Given the description of an element on the screen output the (x, y) to click on. 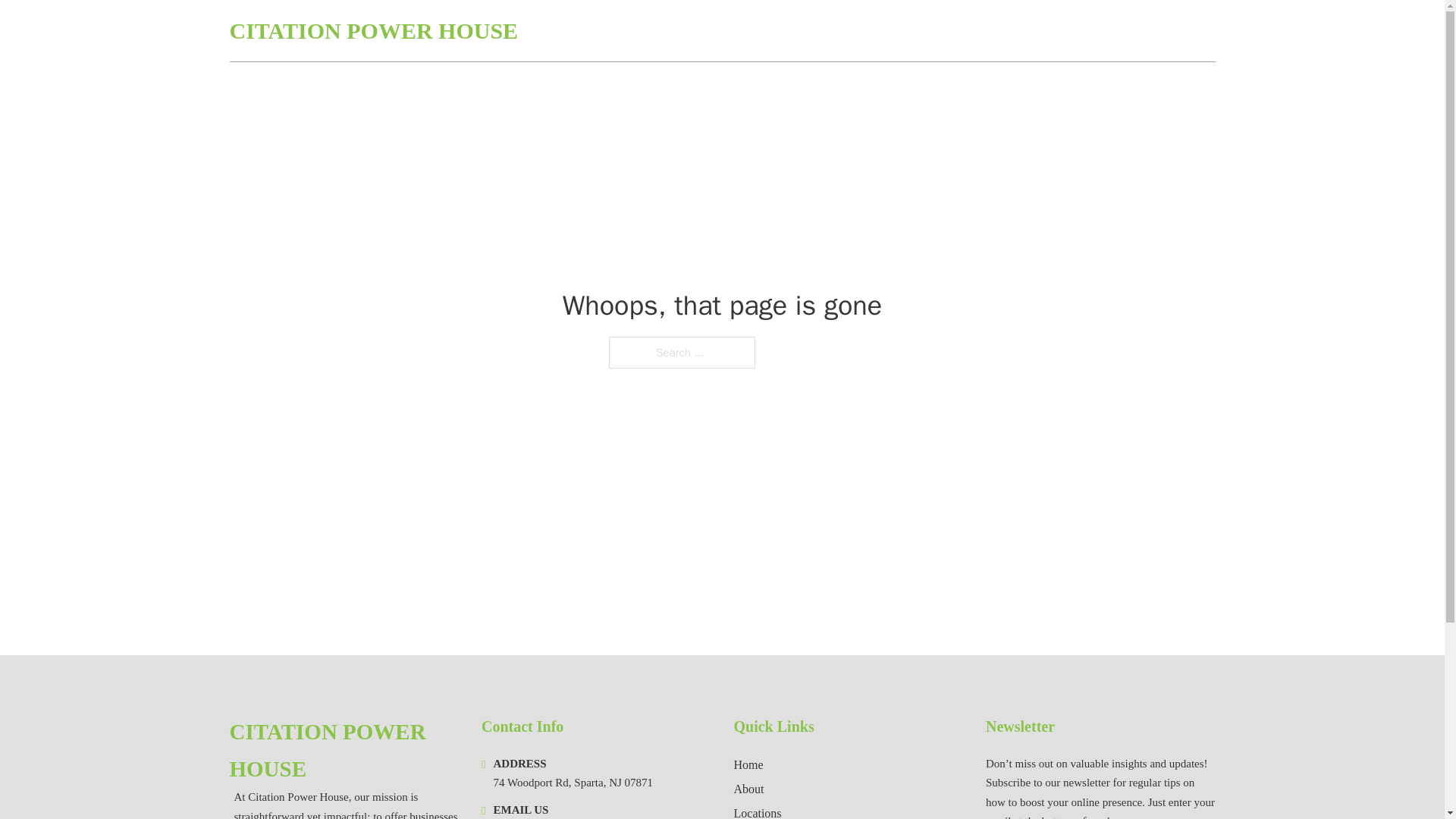
CITATION POWER HOUSE (343, 750)
HOME (1010, 31)
LOCATIONS (1082, 31)
About (748, 788)
CITATION POWER HOUSE (373, 30)
Locations (757, 811)
Home (747, 764)
